Given the description of an element on the screen output the (x, y) to click on. 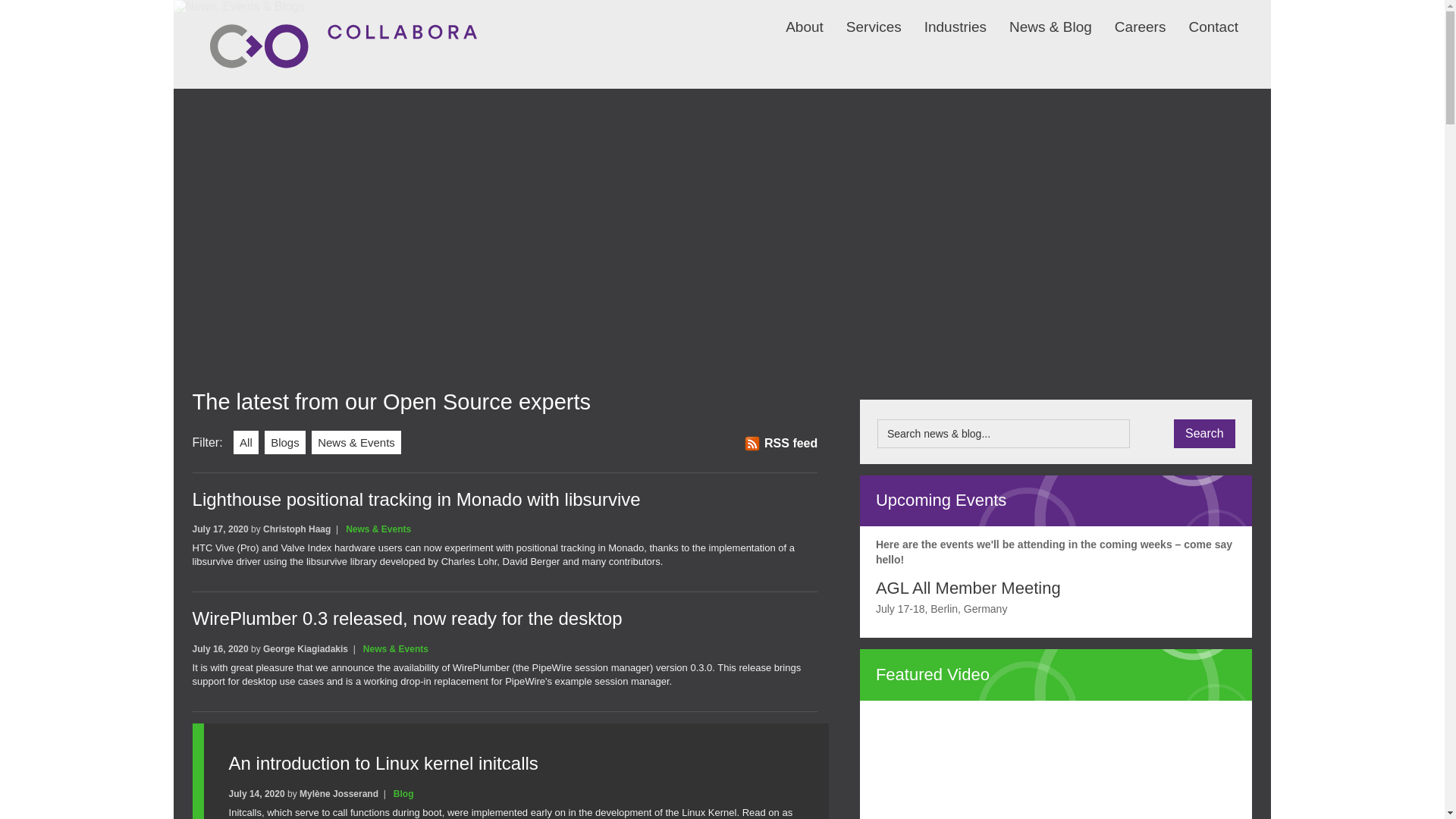
Navigate to the Industries page (944, 17)
All (245, 442)
Contact (1201, 17)
Navigate to the Services page (862, 17)
Search (1203, 433)
Navigate to the About page (793, 17)
Industries (944, 17)
About (793, 17)
Blogs (284, 442)
RSS feed (780, 442)
Services (862, 17)
Careers (1129, 17)
Lighthouse positional tracking in Monado with libsurvive (416, 498)
